Given the description of an element on the screen output the (x, y) to click on. 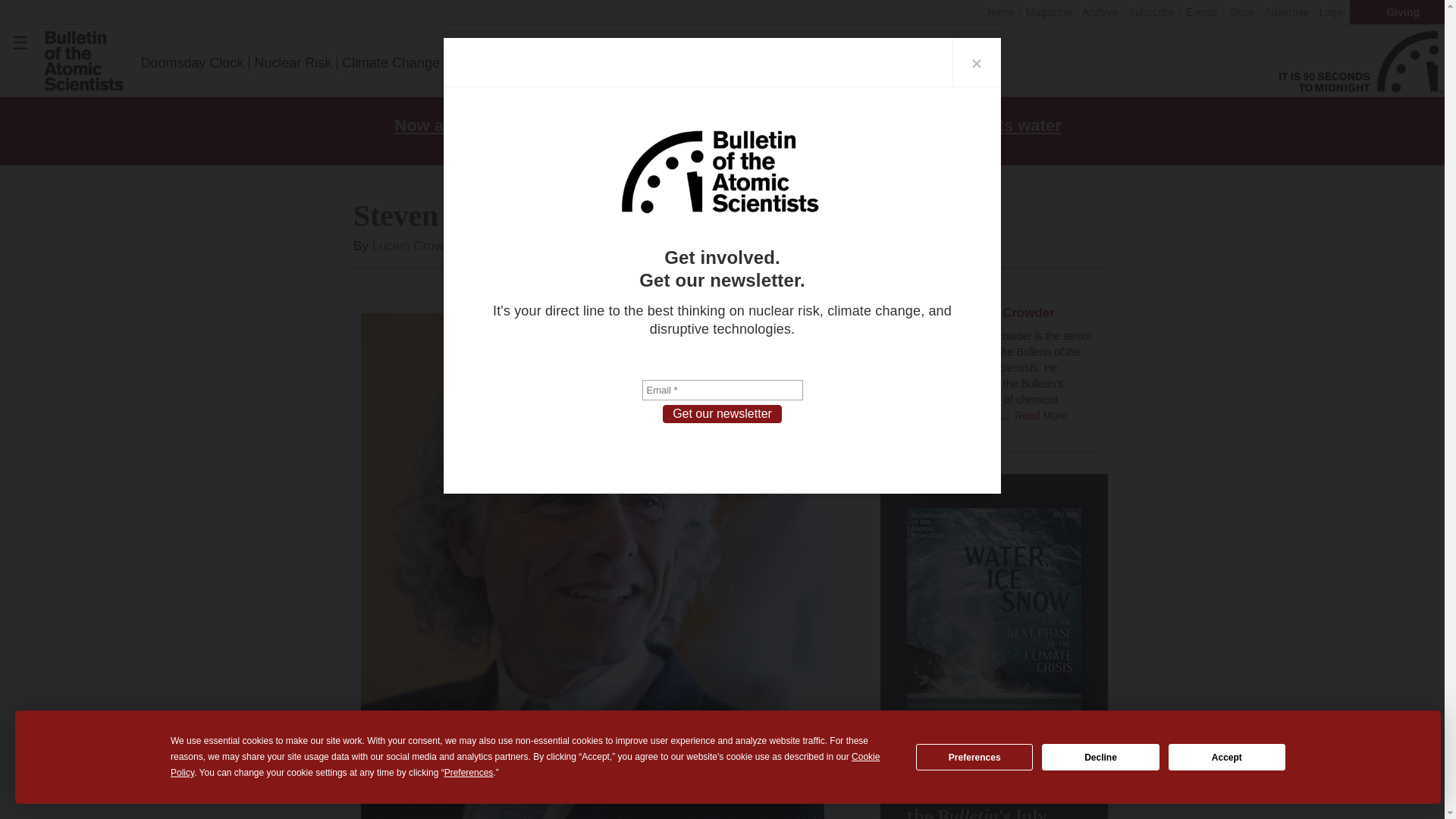
Preferences (973, 756)
Subscribe (1150, 11)
Home (1000, 11)
Events (1201, 11)
Accept (1227, 756)
Decline (1100, 756)
Climate Change (390, 63)
Doomsday Clock (191, 63)
Disruptive Technologies (521, 63)
Nuclear Risk (292, 63)
Biosecurity (637, 63)
Store (1241, 11)
Support Our Work (736, 63)
Login (1331, 11)
